Given the description of an element on the screen output the (x, y) to click on. 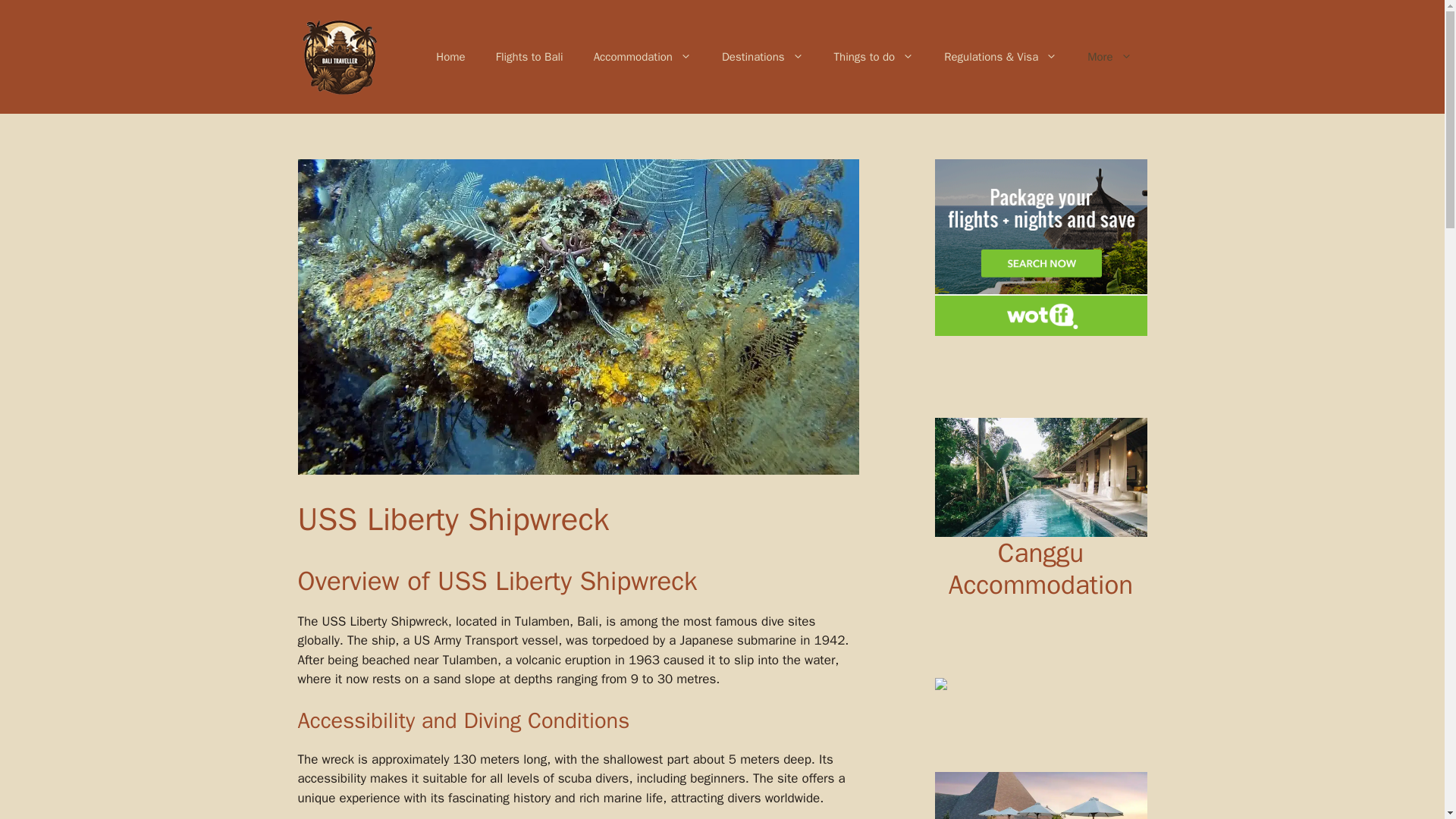
Home (450, 56)
Accommodation (642, 56)
Destinations (762, 56)
Things to do (874, 56)
Flights to Bali (529, 56)
